Given the description of an element on the screen output the (x, y) to click on. 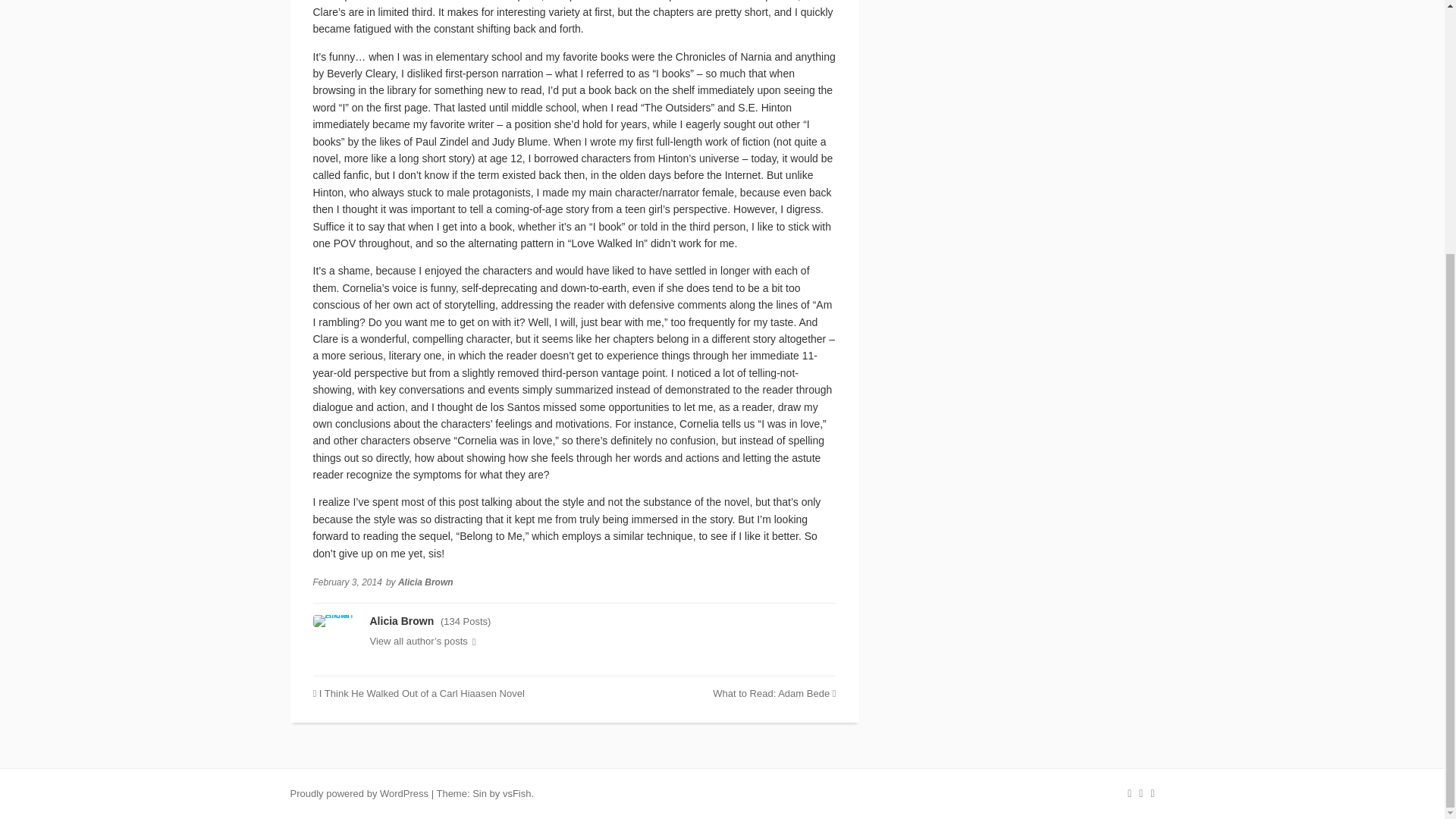
I Think He Walked Out of a Carl Hiaasen Novel (418, 693)
Alicia Brown (401, 621)
vsFish (516, 793)
Posts by Alicia Brown (401, 621)
February 3, 2014 (347, 582)
Proudly powered by WordPress (358, 793)
What to Read: Adam Bede (774, 693)
Alicia Brown (424, 582)
